Given the description of an element on the screen output the (x, y) to click on. 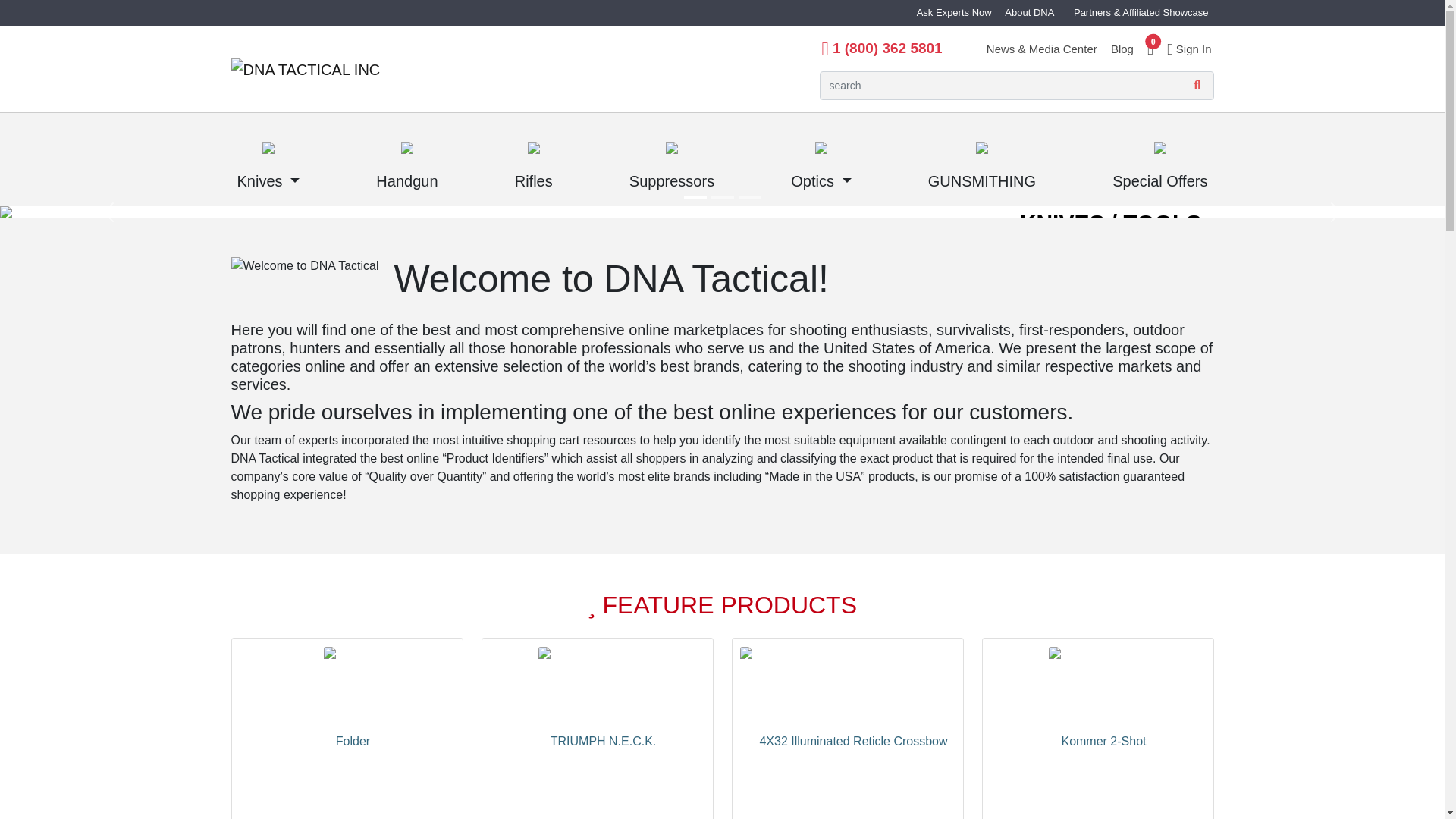
Partners Affiliated Showcase (1141, 12)
About DNA (1028, 12)
Ask Experts Now (954, 12)
Blog (1122, 48)
Handgun (406, 159)
Special Offers (1159, 159)
About DNA (1028, 12)
Suppressors (671, 159)
Blog (1122, 48)
Knives (267, 159)
